Given the description of an element on the screen output the (x, y) to click on. 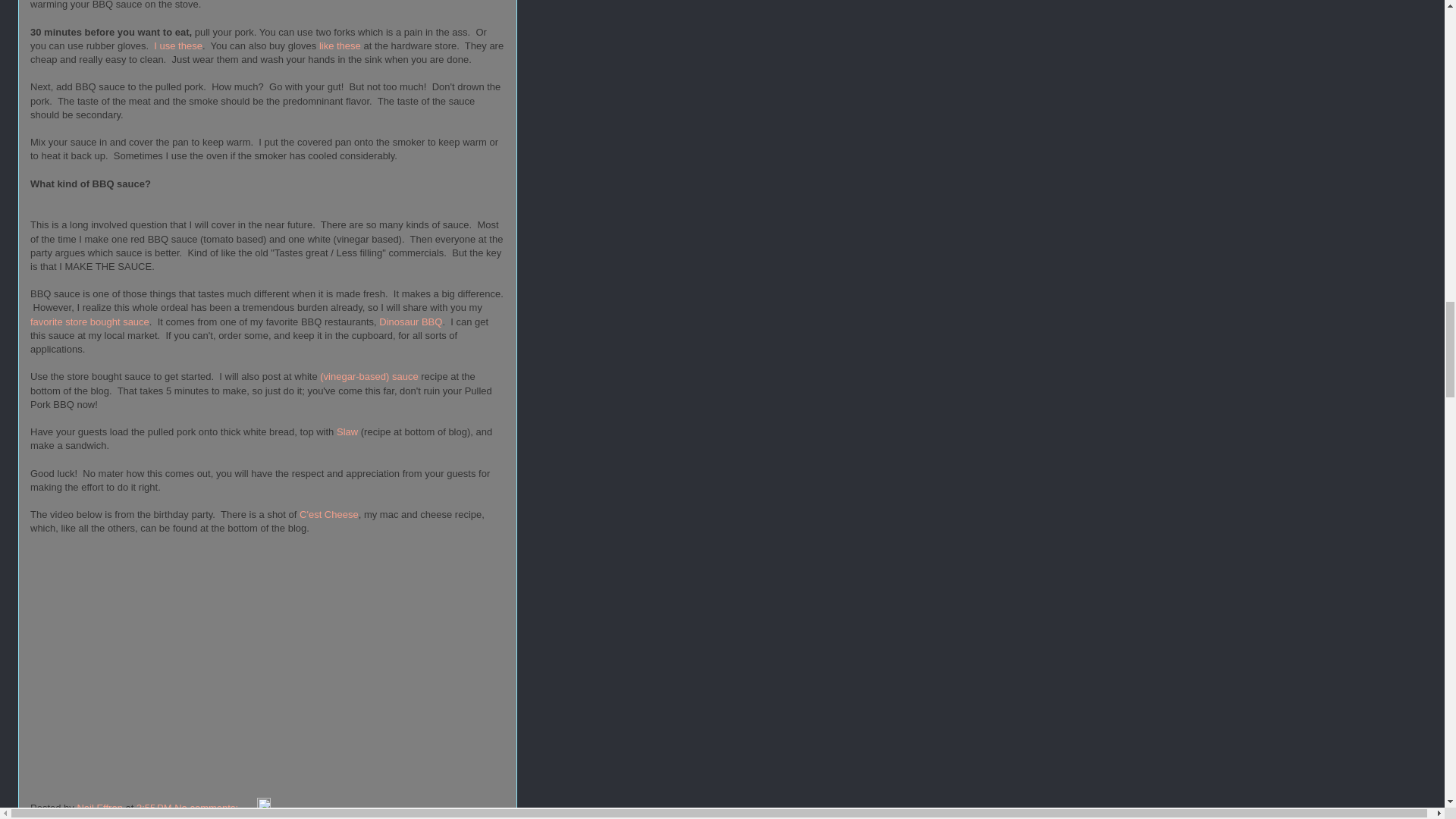
BlogThis! (95, 816)
Edit Post (263, 808)
No comments: (207, 808)
Neil Effron (101, 808)
Share to Facebook (227, 816)
Dinosaur BBQ (410, 321)
BlogThis! (95, 816)
Email This (52, 816)
Email This (52, 816)
Share to Twitter (151, 816)
author profile (101, 808)
C'est Cheese (328, 514)
permanent link (153, 808)
like these (339, 45)
Email Post (249, 808)
